Given the description of an element on the screen output the (x, y) to click on. 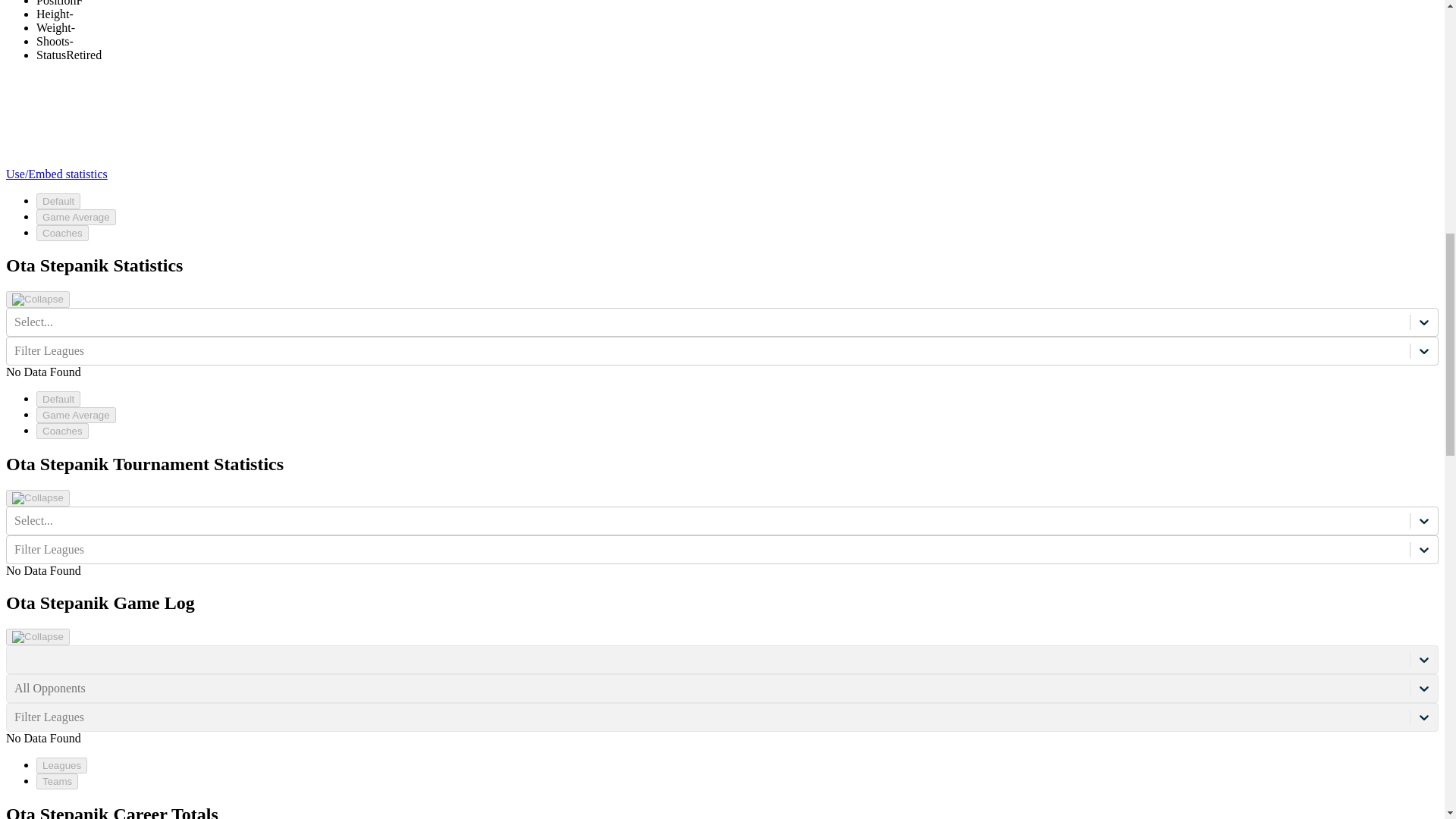
Default (58, 200)
Coaches (62, 232)
Game Average (76, 217)
Coaches (62, 430)
Leagues (61, 765)
Default (58, 399)
Game Average (76, 415)
Teams (57, 781)
